Given the description of an element on the screen output the (x, y) to click on. 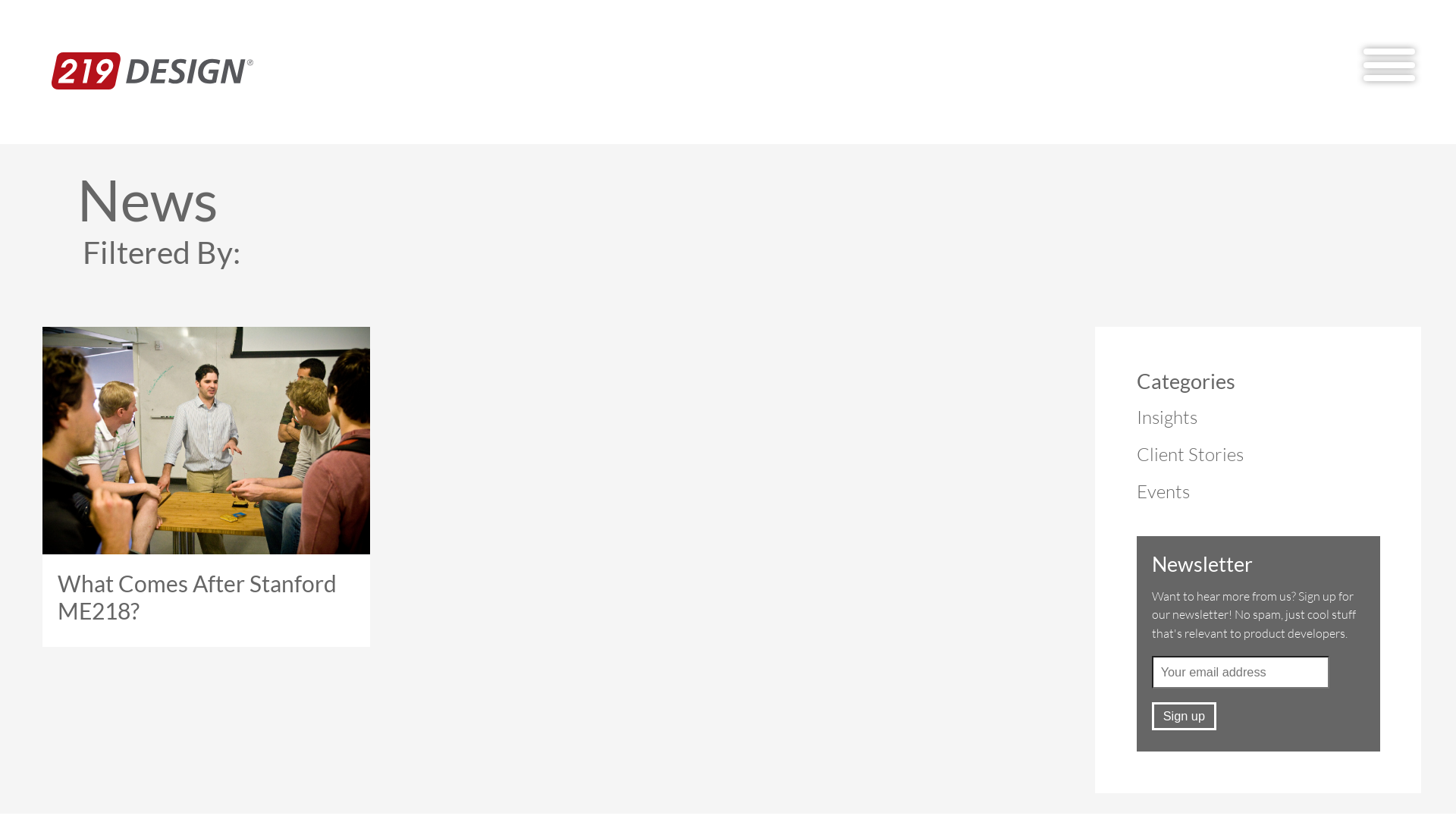
Client Stories Element type: text (1189, 453)
What Comes After Stanford ME218? Element type: text (206, 486)
Insights Element type: text (1166, 416)
Sign up Element type: text (1183, 716)
Events Element type: text (1162, 491)
